Given the description of an element on the screen output the (x, y) to click on. 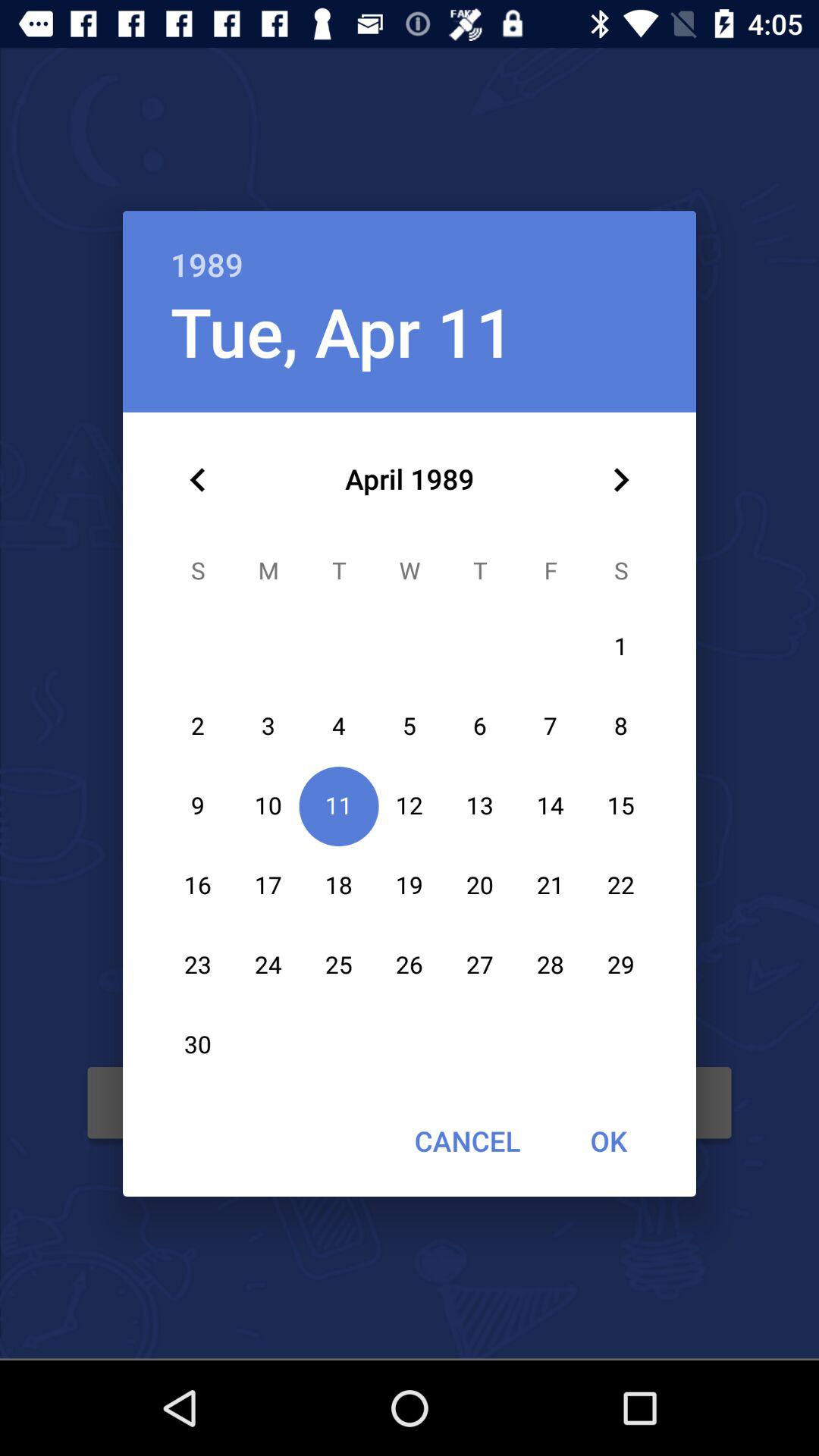
open the icon next to the cancel (608, 1140)
